Given the description of an element on the screen output the (x, y) to click on. 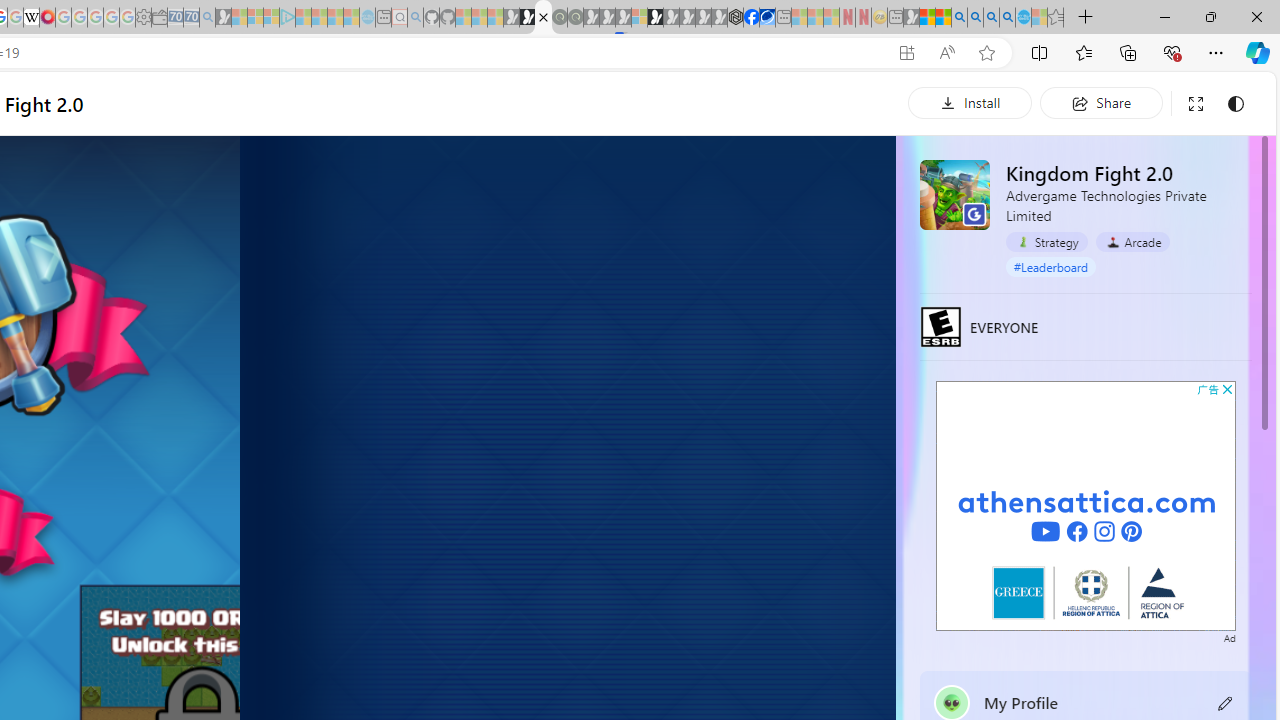
Settings - Sleeping (143, 17)
github - Search - Sleeping (415, 17)
AirNow.gov (767, 17)
Strategy (1047, 241)
Class: button edit-icon (1225, 702)
Advertisement (1085, 505)
